Given the description of an element on the screen output the (x, y) to click on. 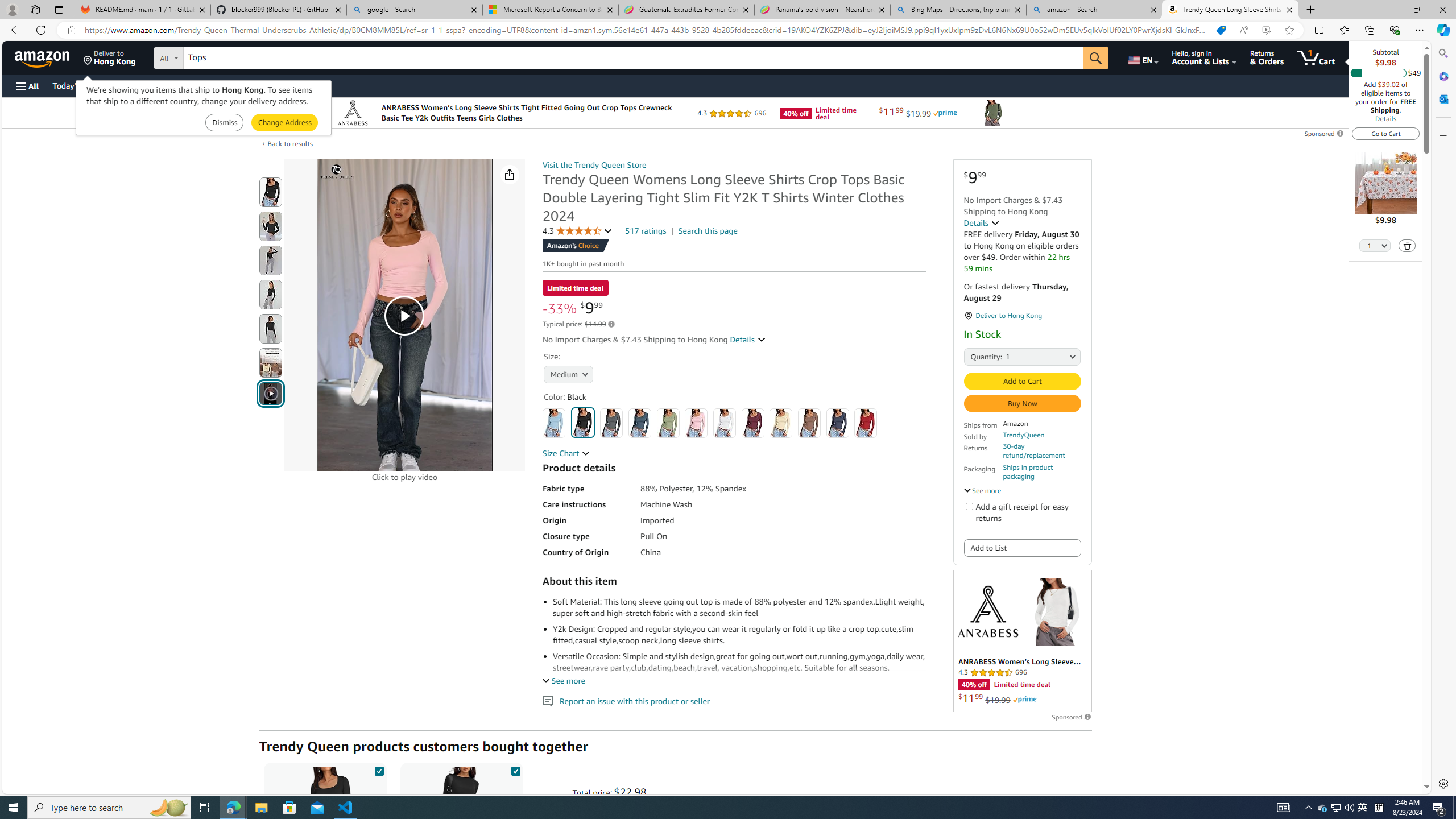
Size Chart  (566, 452)
Go (1096, 57)
Haze Blue (639, 422)
Delete (1407, 245)
White (724, 422)
Choose a language for shopping. (1142, 57)
Wine Red (752, 422)
Add to Cart (1021, 381)
Secure transaction (1032, 488)
White (724, 422)
